Given the description of an element on the screen output the (x, y) to click on. 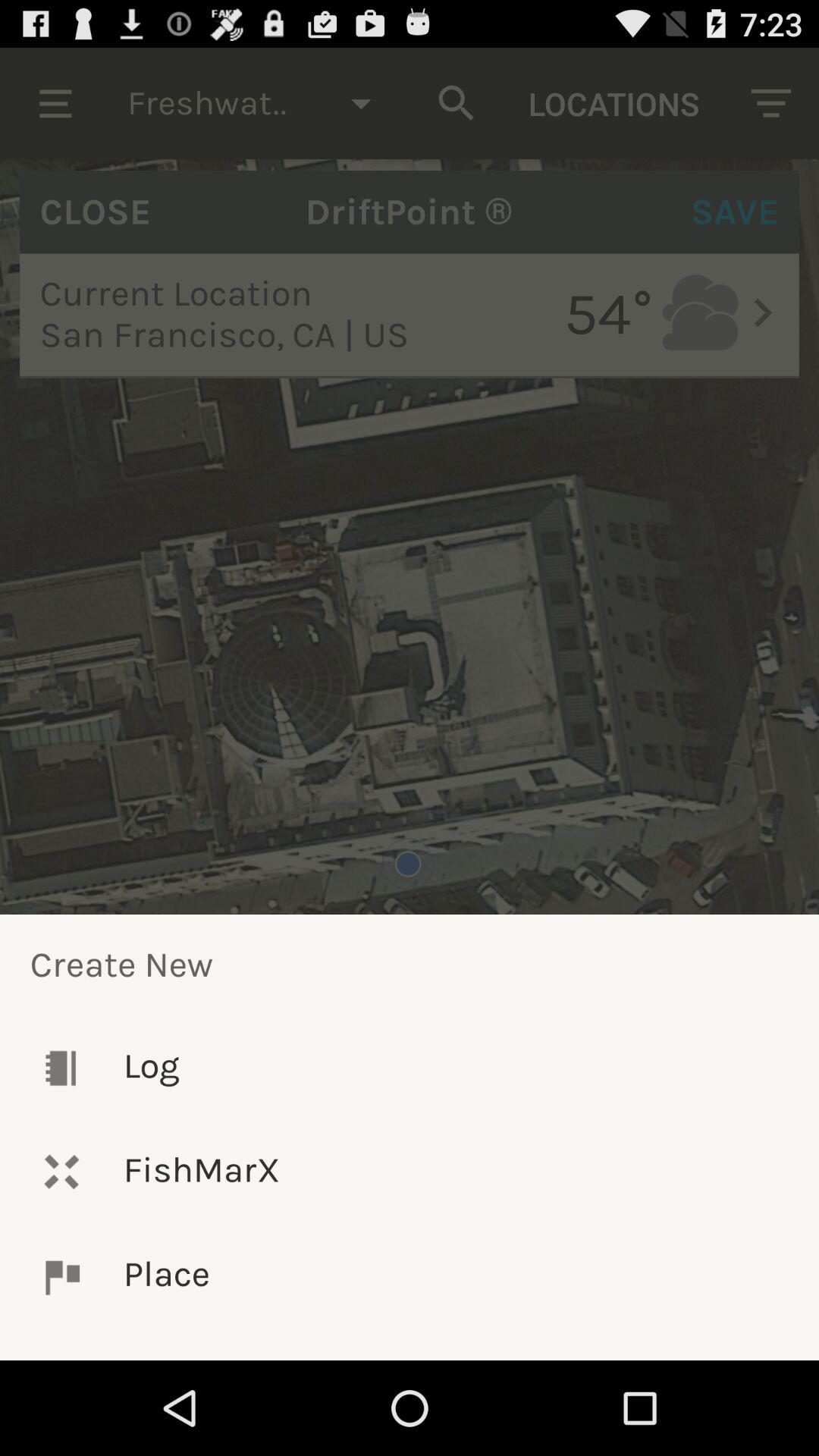
turn off log item (409, 1067)
